Given the description of an element on the screen output the (x, y) to click on. 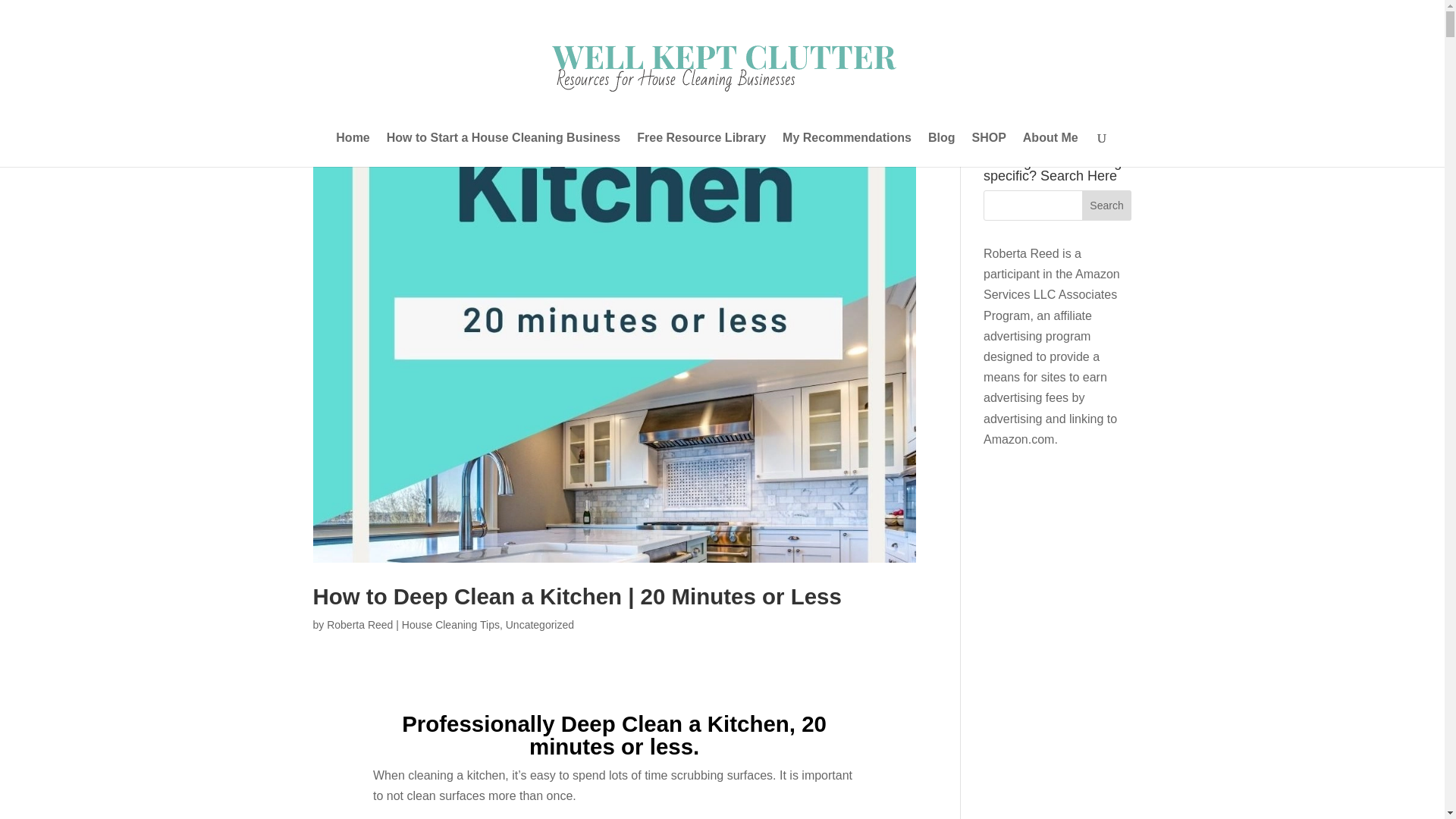
Uncategorized (539, 624)
Home (352, 149)
How to Start a House Cleaning Business (504, 149)
Search (1106, 205)
Posts by Roberta Reed (359, 624)
Roberta Reed (359, 624)
House Cleaning Tips (450, 624)
About Me (1050, 149)
My Recommendations (847, 149)
Free Resource Library (701, 149)
